Given the description of an element on the screen output the (x, y) to click on. 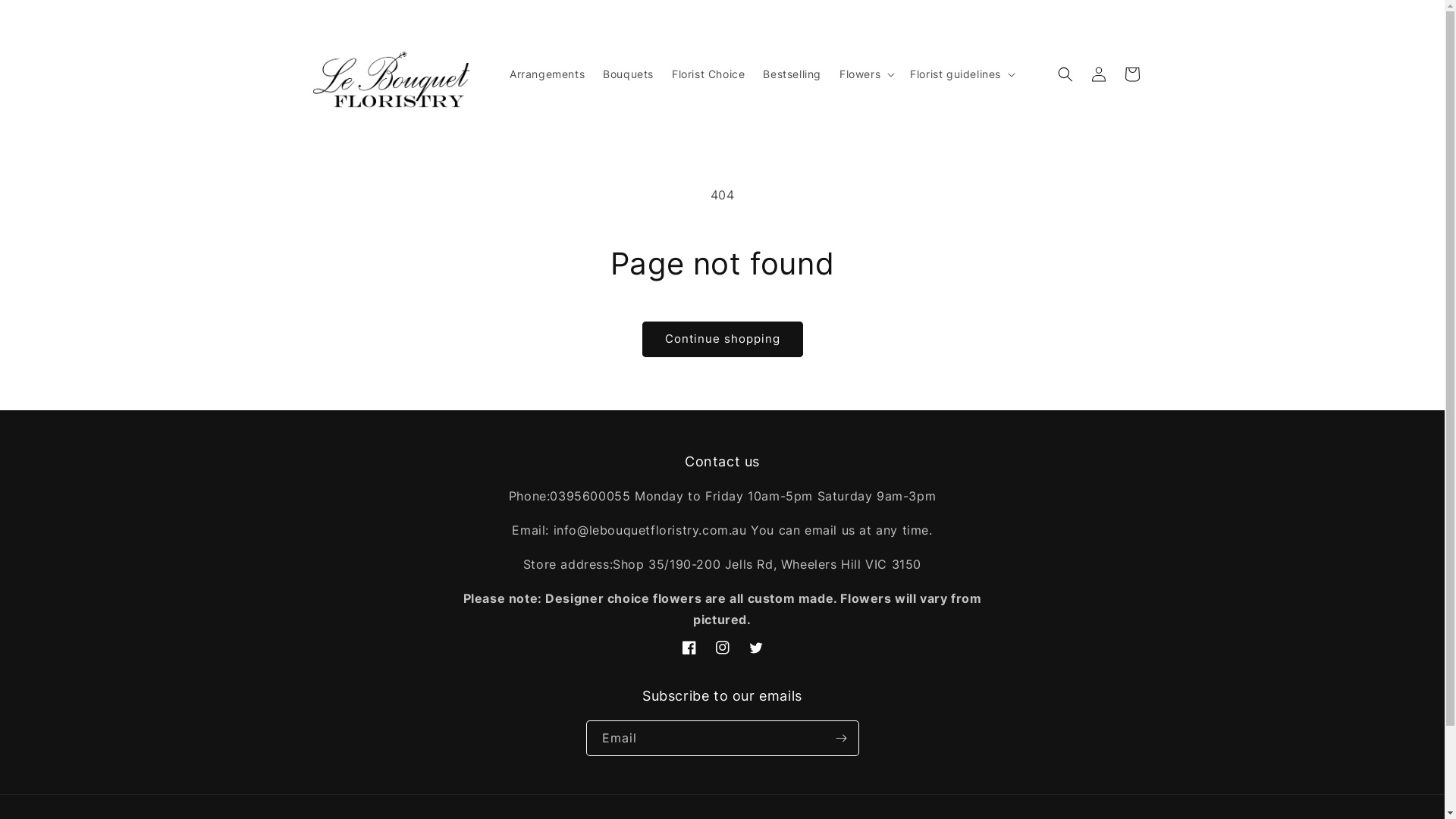
Bestselling Element type: text (791, 74)
Arrangements Element type: text (546, 74)
Facebook Element type: text (688, 647)
Bouquets Element type: text (627, 74)
Cart Element type: text (1131, 74)
Florist Choice Element type: text (707, 74)
Continue shopping Element type: text (721, 339)
Log in Element type: text (1097, 74)
Twitter Element type: text (754, 647)
Instagram Element type: text (721, 647)
